Given the description of an element on the screen output the (x, y) to click on. 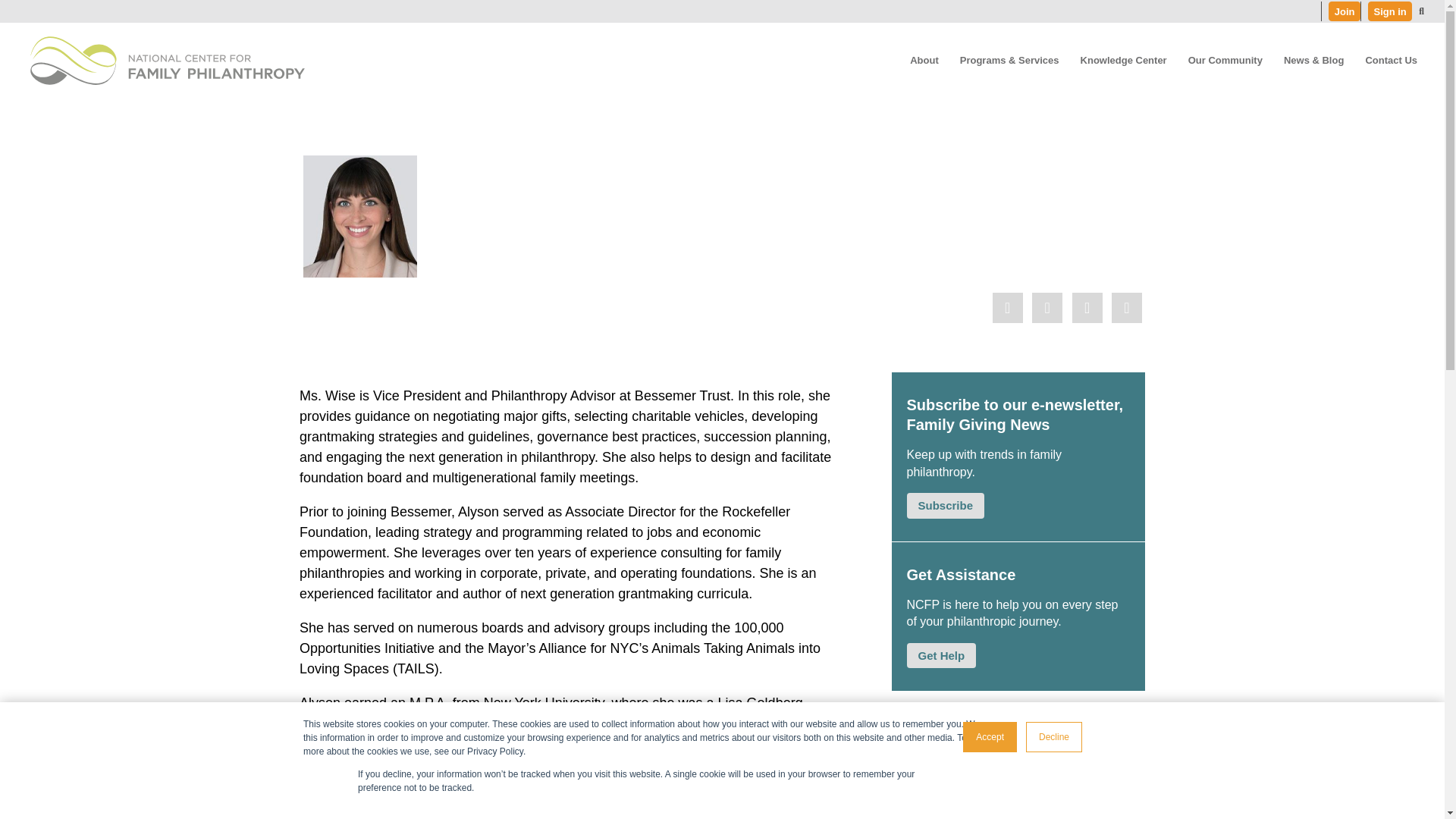
Sign in (1390, 11)
search (1421, 11)
About (924, 60)
Knowledge Center (1123, 60)
Accept (989, 736)
Our Community (1224, 60)
Decline (1053, 736)
Join (1343, 11)
